Given the description of an element on the screen output the (x, y) to click on. 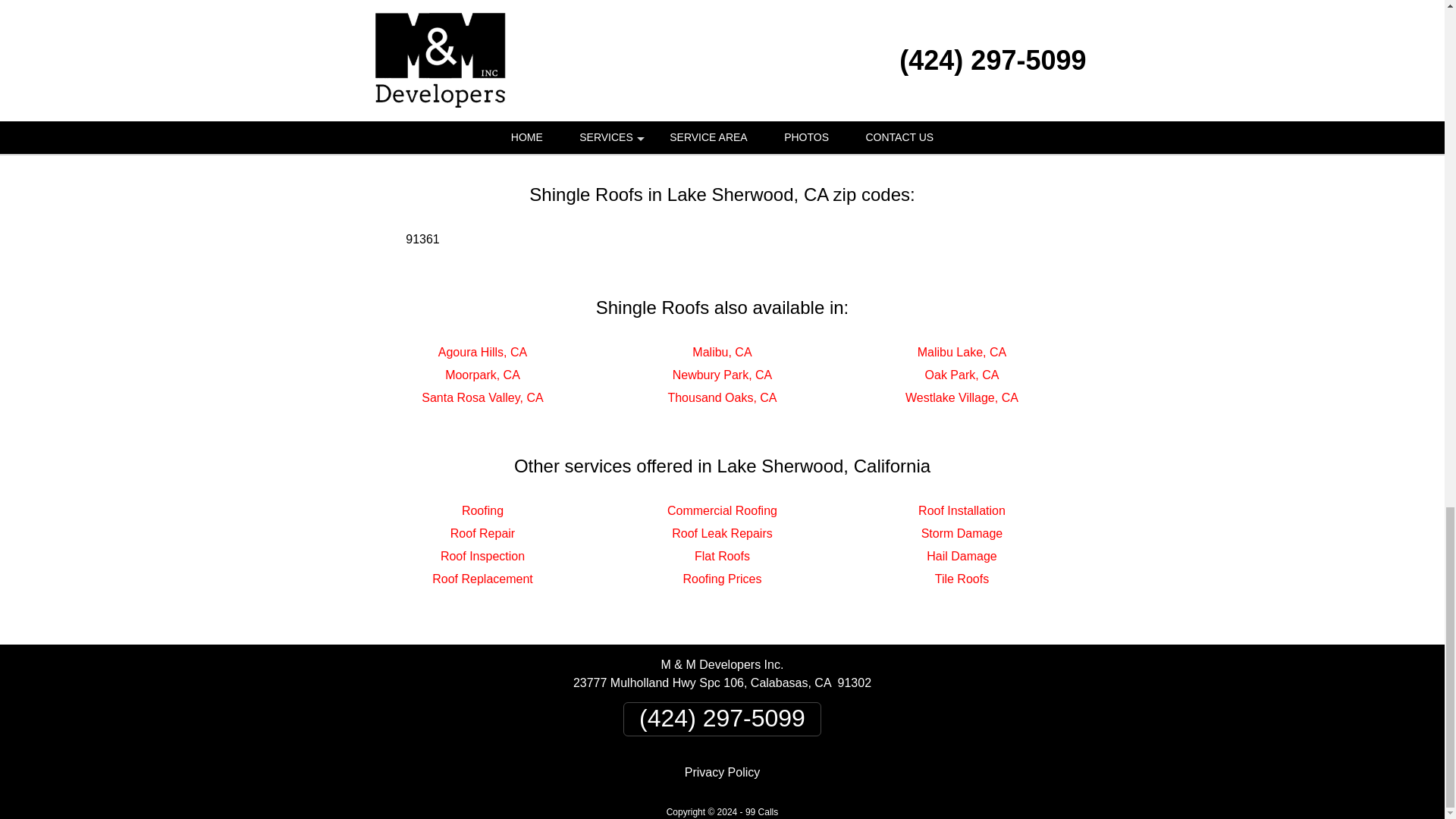
Roof Leak Repairs (722, 533)
Roof Installation (962, 510)
Roof Repair (482, 533)
Newbury Park, CA (722, 374)
Westlake Village, CA (961, 397)
Oak Park, CA (961, 374)
Santa Rosa Valley, CA (482, 397)
Thousand Oaks, CA (721, 397)
Moorpark, CA (482, 374)
Malibu, CA (722, 351)
Commercial Roofing (721, 510)
Agoura Hills, CA (482, 351)
Houzz (749, 107)
Roofing (482, 510)
Facebook (694, 107)
